Given the description of an element on the screen output the (x, y) to click on. 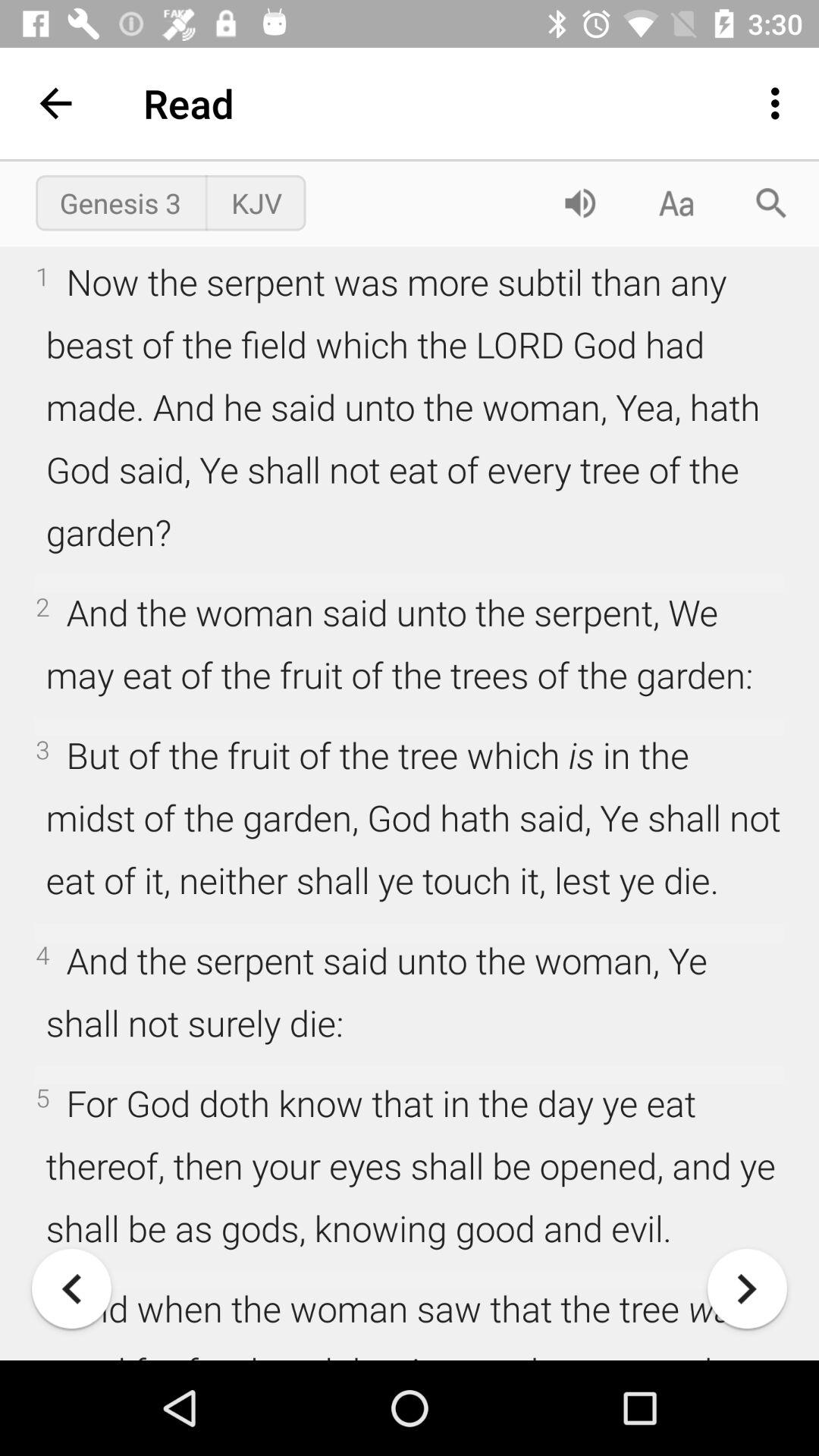
search function (771, 202)
